Given the description of an element on the screen output the (x, y) to click on. 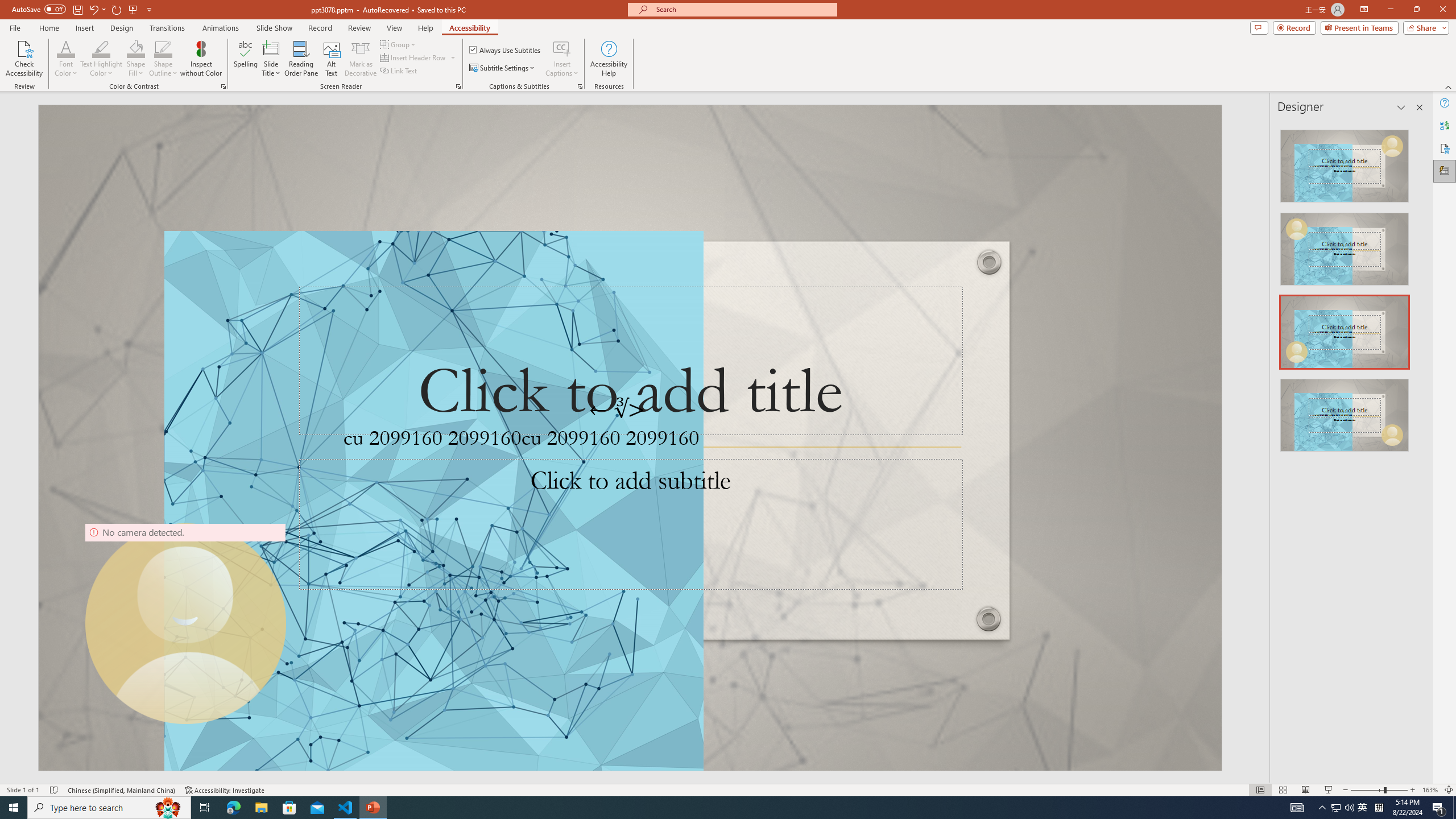
Link Text (399, 69)
Always Use Subtitles (505, 49)
TextBox 61 (628, 440)
Accessibility Help (608, 58)
